Given the description of an element on the screen output the (x, y) to click on. 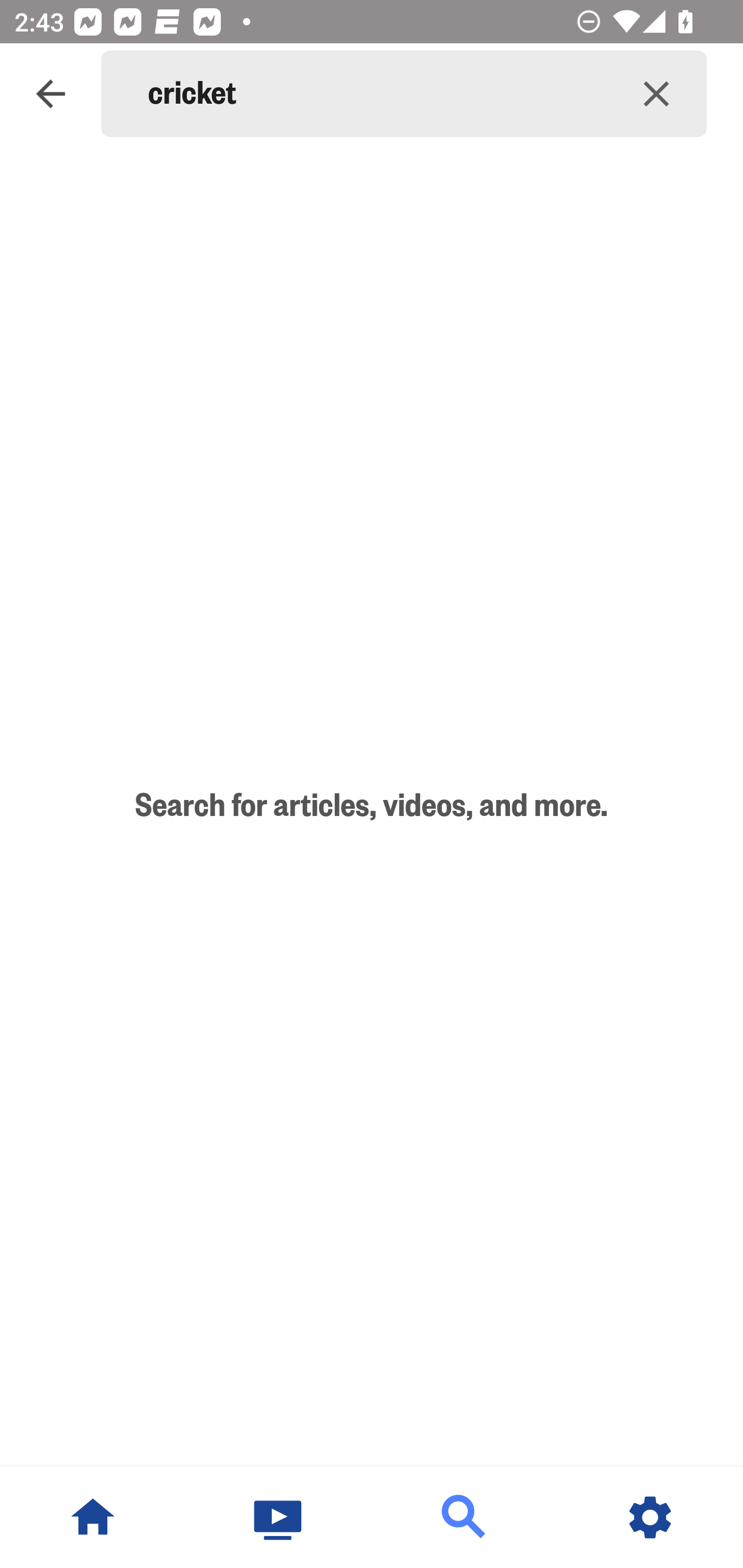
Navigate up (50, 93)
Clear query (656, 93)
cricket (376, 94)
NBC News Home (92, 1517)
Watch (278, 1517)
Settings (650, 1517)
